Given the description of an element on the screen output the (x, y) to click on. 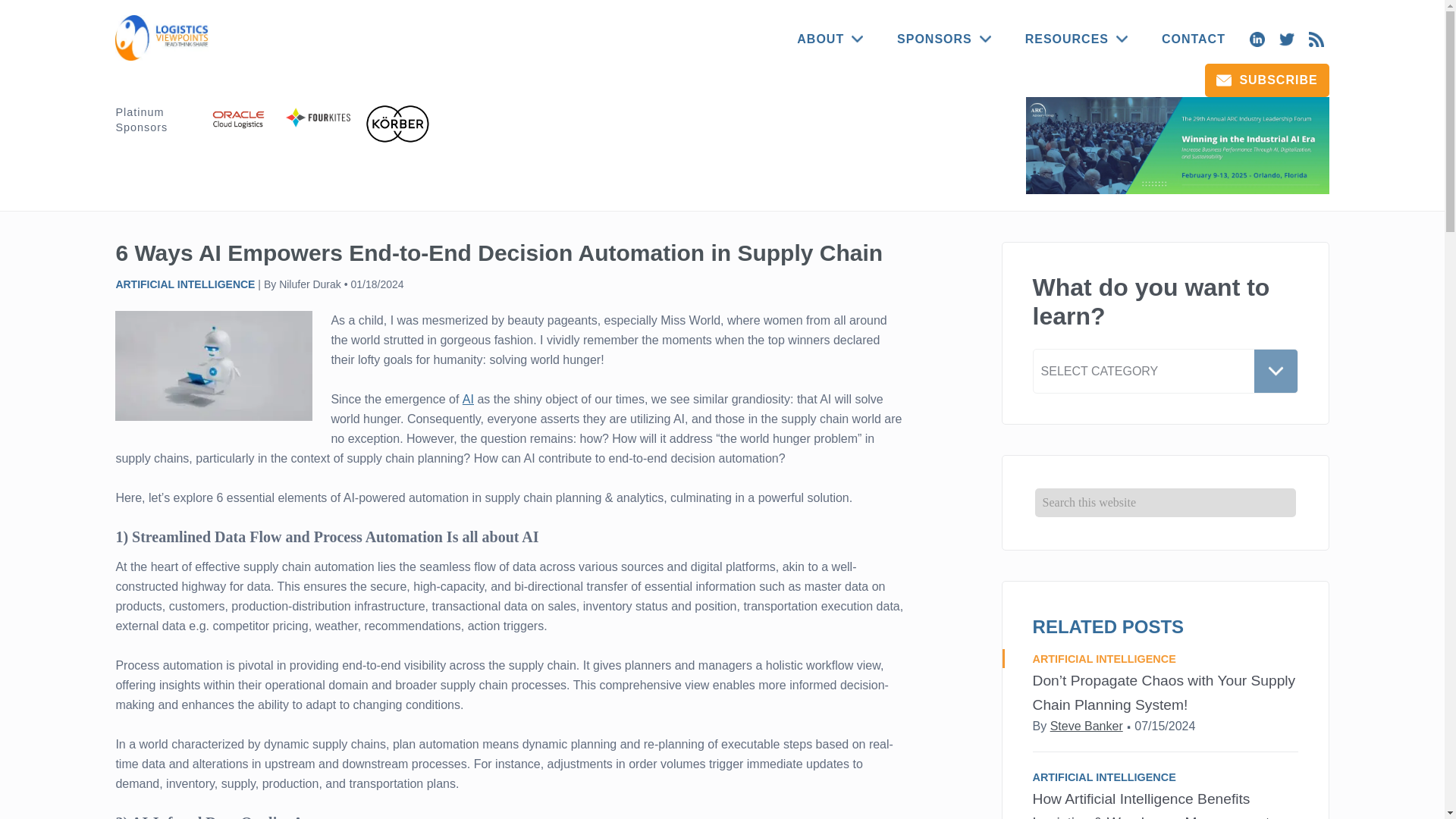
SPONSORS (944, 39)
LOGISTICS VIEWPOINTS (164, 37)
RESOURCES (1076, 39)
ABOUT (829, 39)
CONTACT (1193, 39)
SUBSCRIBE (1266, 80)
